Given the description of an element on the screen output the (x, y) to click on. 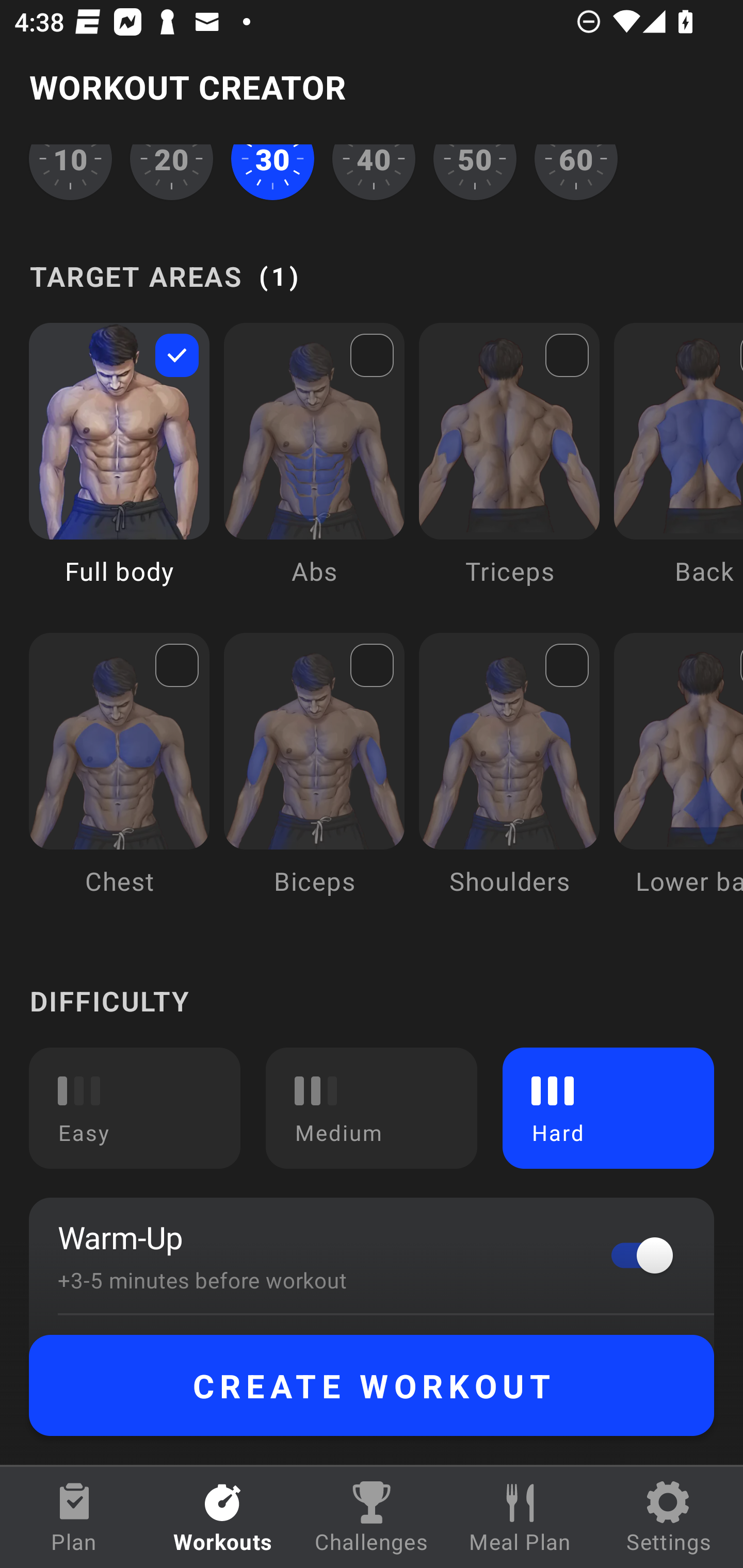
10 (70, 173)
20 (171, 173)
30 (272, 173)
40 (373, 173)
50 (474, 173)
60 (575, 173)
Abs (313, 468)
Triceps (509, 468)
Back (678, 468)
Chest (118, 779)
Biceps (313, 779)
Shoulders (509, 779)
Lower back (678, 779)
Easy (134, 1107)
Medium (371, 1107)
CREATE WORKOUT (371, 1385)
 Plan  (74, 1517)
 Challenges  (371, 1517)
 Meal Plan  (519, 1517)
 Settings  (668, 1517)
